Given the description of an element on the screen output the (x, y) to click on. 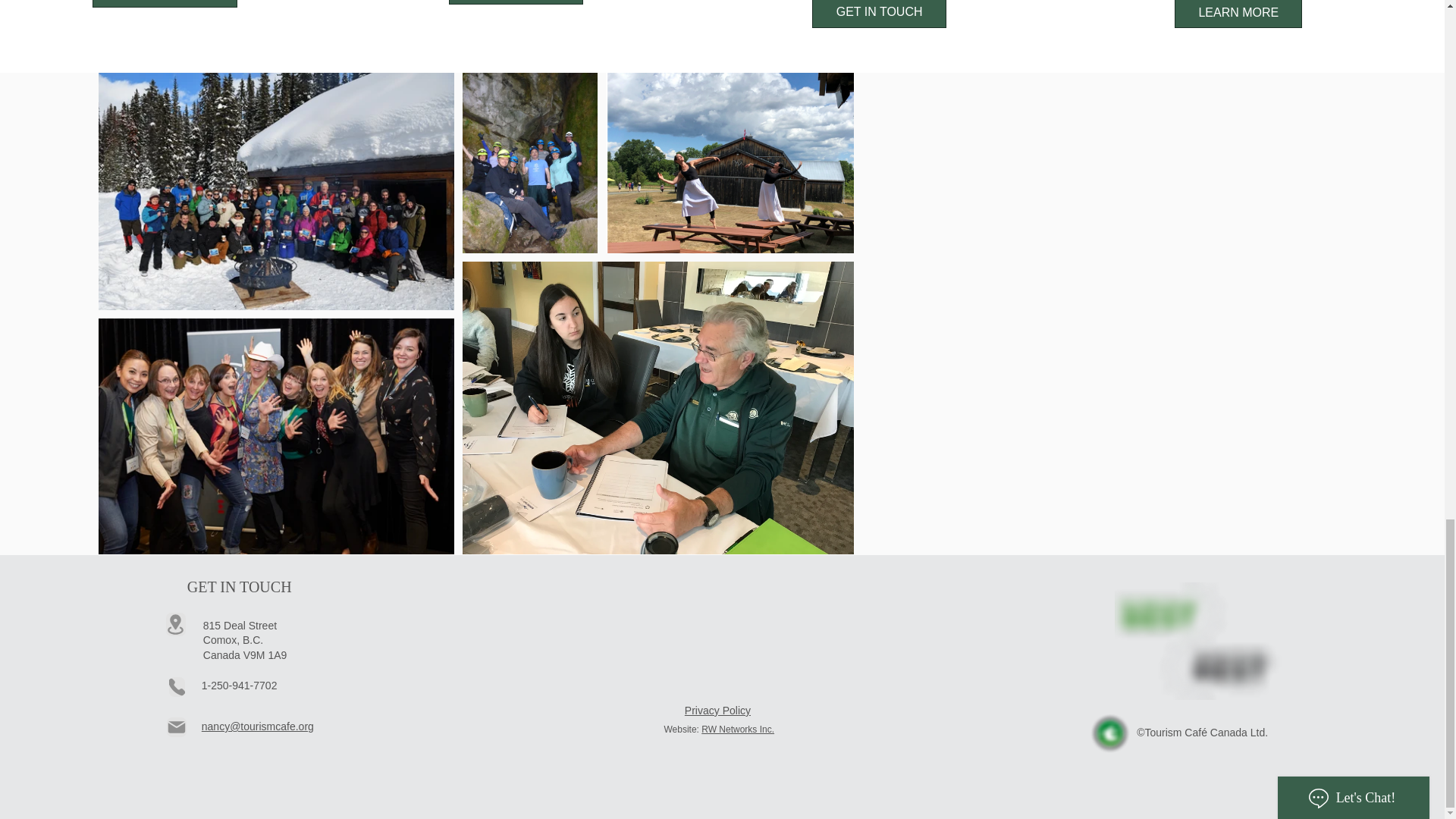
RW Networks Inc. (737, 728)
Privacy Policy (717, 710)
GET IN TOUCH (879, 13)
LET'S CO-CREATE (165, 3)
LEARN MORE (1237, 13)
BOOK US (515, 2)
